Given the description of an element on the screen output the (x, y) to click on. 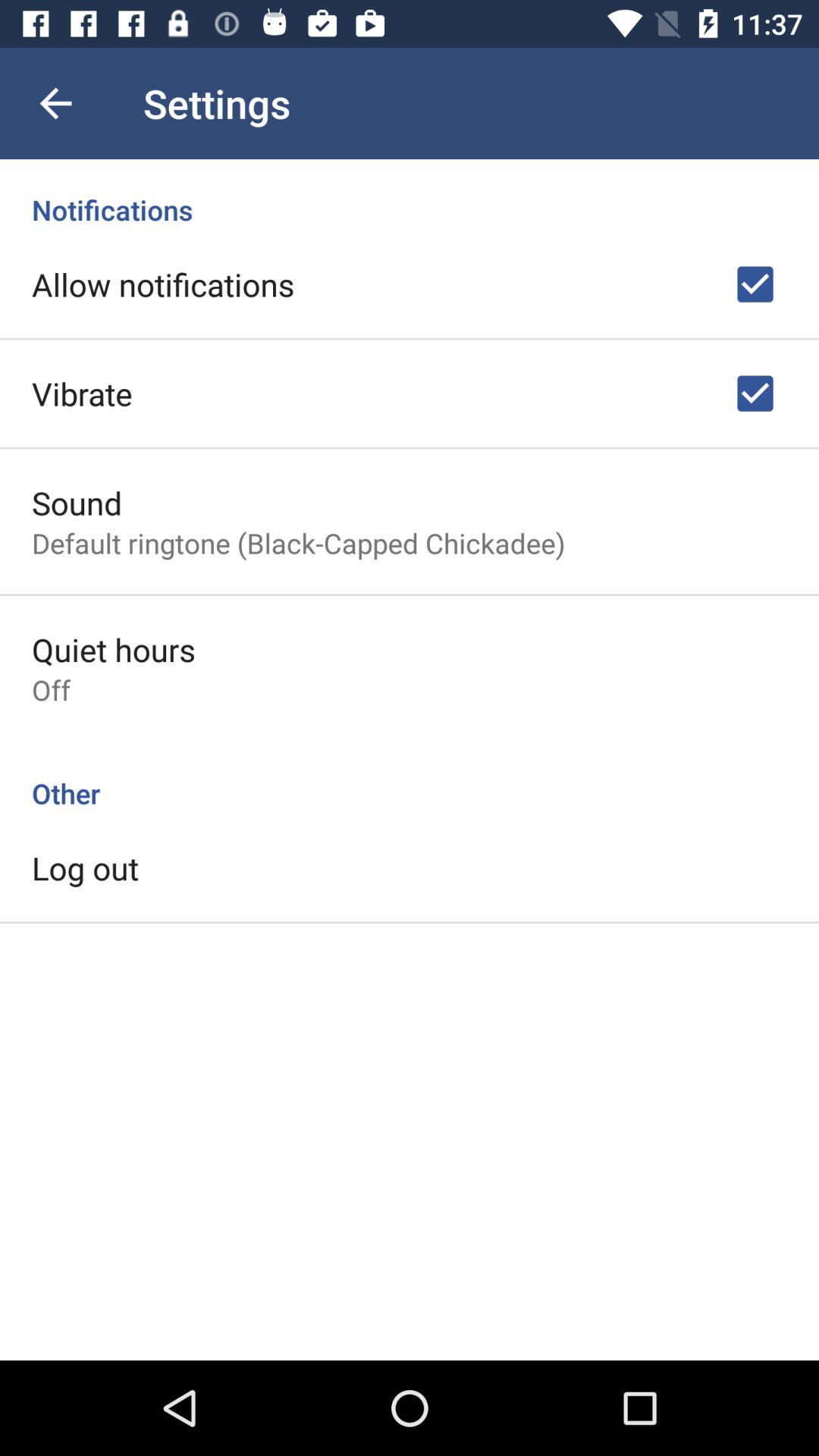
tap the item next to settings (55, 103)
